Given the description of an element on the screen output the (x, y) to click on. 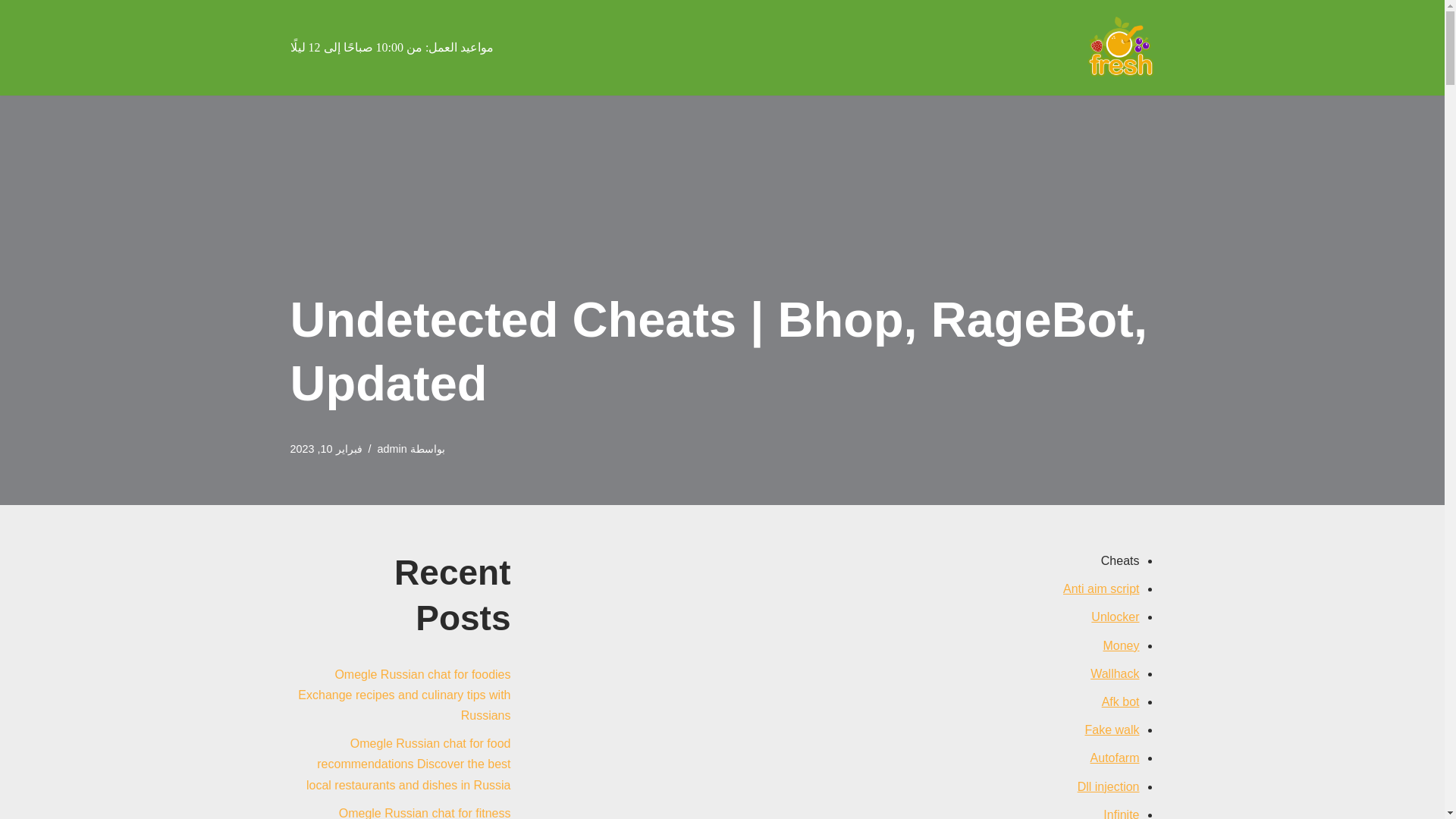
Anti aim script (1100, 588)
Dll injection (1108, 785)
Wallhack (1114, 673)
Afk bot (1121, 701)
Money (1120, 645)
Fake walk (1111, 729)
admin (392, 449)
Infinite (1120, 813)
Unlocker (1114, 616)
Autofarm (1115, 757)
